Given the description of an element on the screen output the (x, y) to click on. 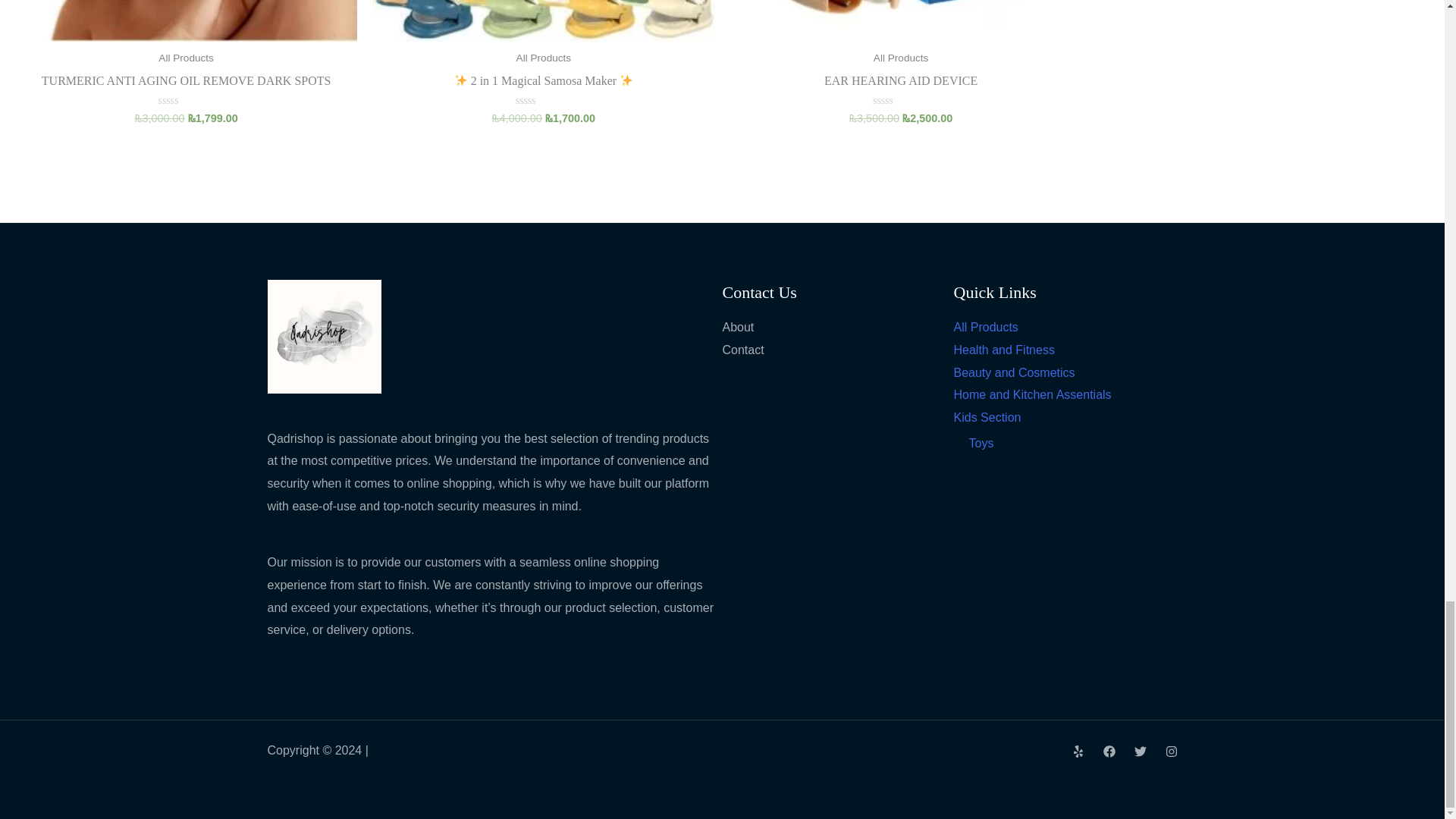
TURMERIC ANTI AGING OIL REMOVE DARK SPOTS (185, 84)
2 in 1 Magical Samosa Maker (543, 84)
EAR HEARING AID DEVICE (900, 84)
